Given the description of an element on the screen output the (x, y) to click on. 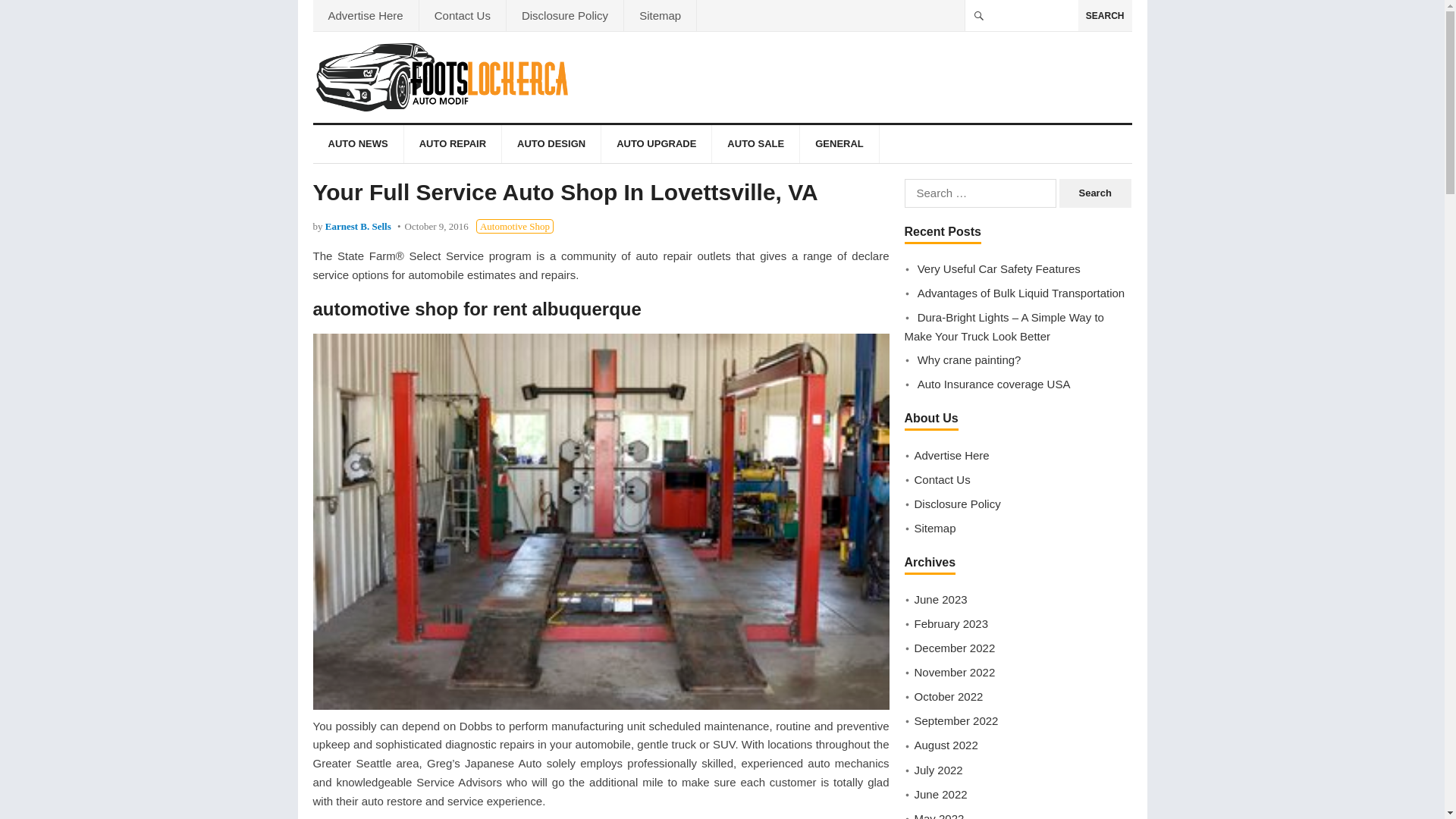
Search (1095, 193)
Contact Us (462, 15)
Sitemap (659, 15)
SEARCH (1105, 15)
AUTO NEWS (358, 143)
AUTO REPAIR (452, 143)
AUTO UPGRADE (656, 143)
Search (1095, 193)
GENERAL (839, 143)
Posts by Earnest B. Sells (357, 225)
View all posts in Automotive Shop (514, 226)
AUTO DESIGN (550, 143)
Advertise Here (365, 15)
Disclosure Policy (564, 15)
AUTO SALE (755, 143)
